Given the description of an element on the screen output the (x, y) to click on. 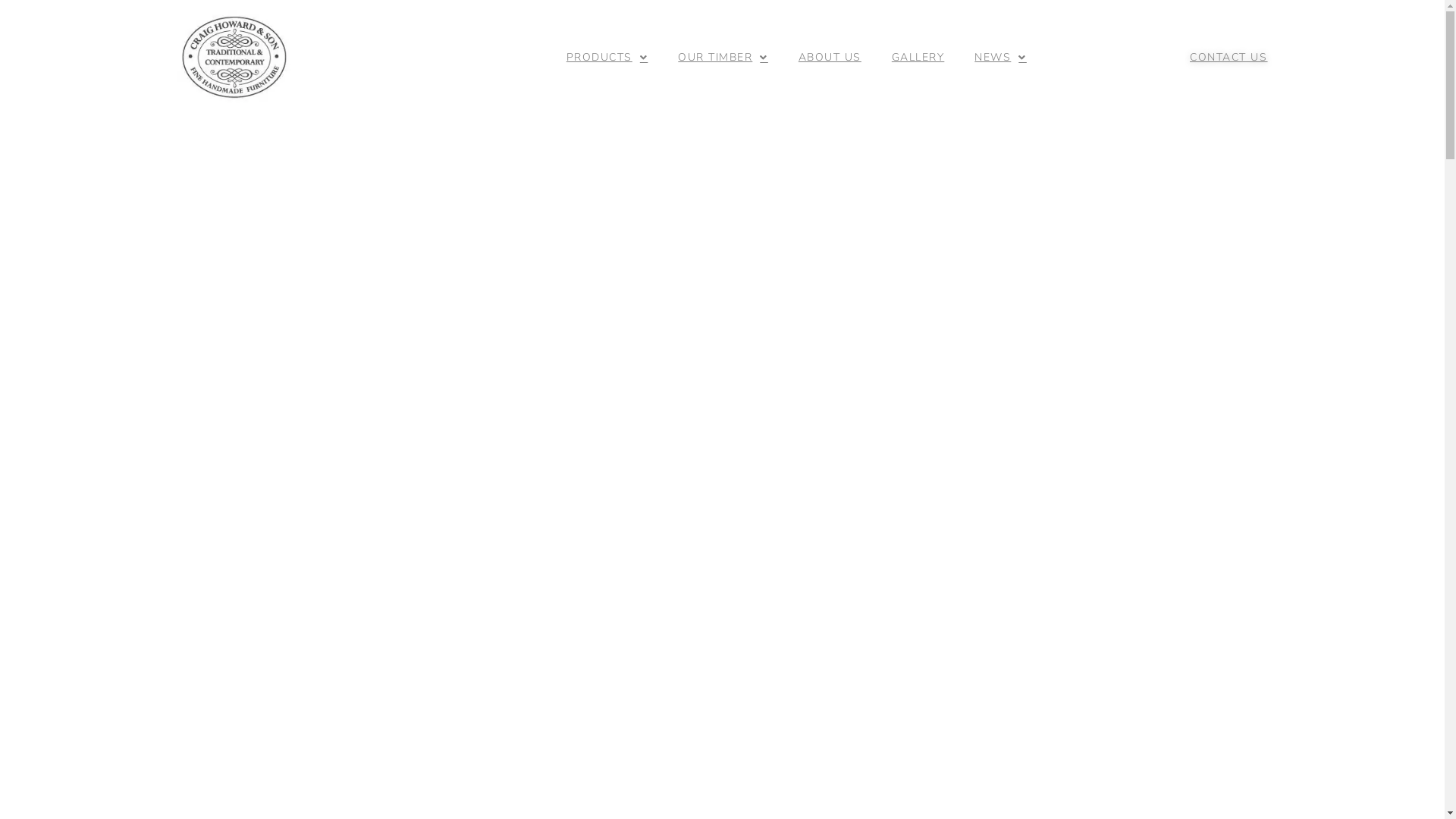
NEWS Element type: text (1000, 57)
OUR TIMBER Element type: text (722, 57)
GALLERY Element type: text (918, 57)
PRODUCTS Element type: text (607, 57)
ABOUT US Element type: text (829, 57)
CONTACT US Element type: text (1228, 57)
